Given the description of an element on the screen output the (x, y) to click on. 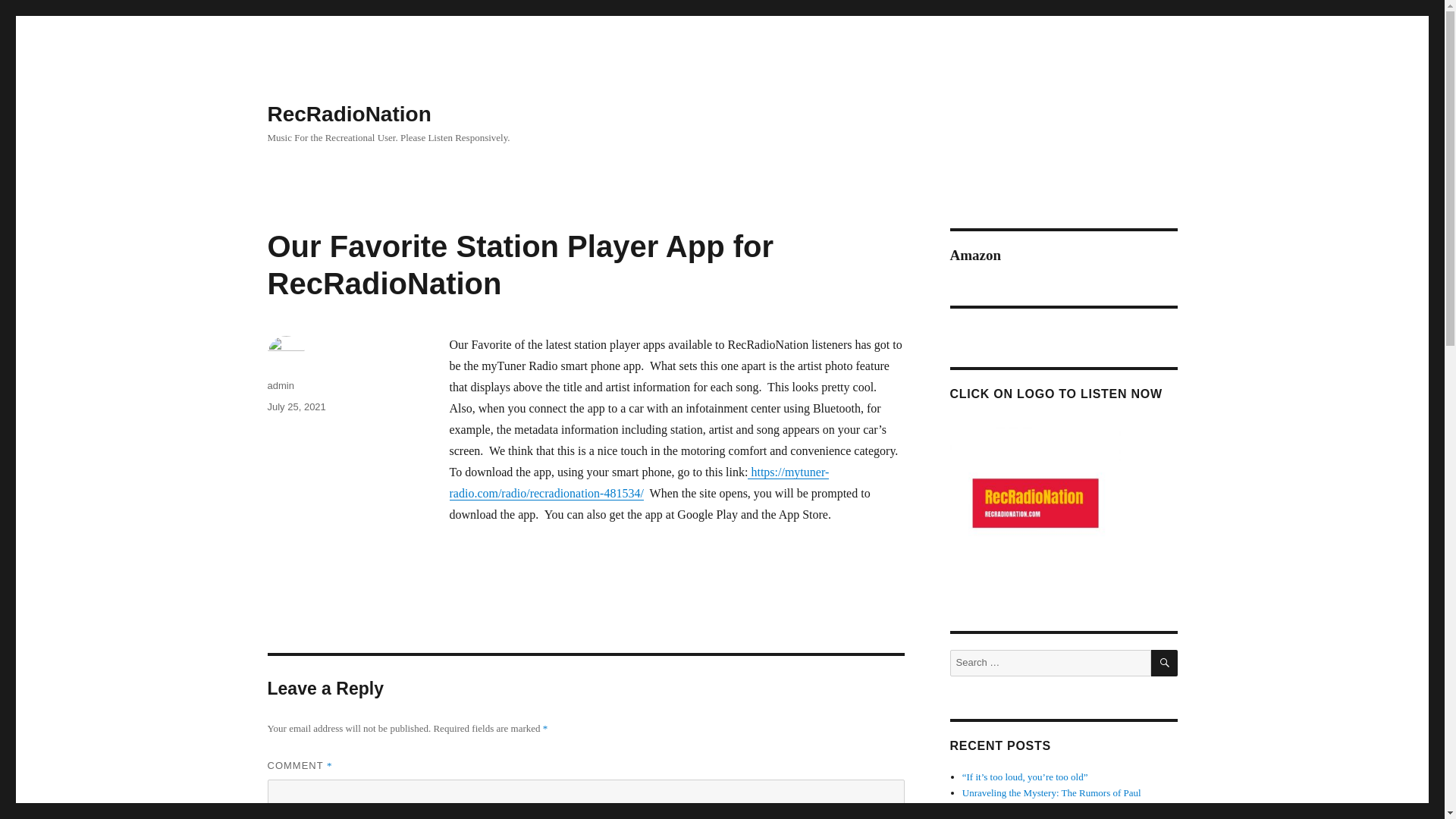
admin (280, 385)
SEARCH (1164, 663)
July 25, 2021 (295, 406)
RecRadioNation (348, 114)
